Given the description of an element on the screen output the (x, y) to click on. 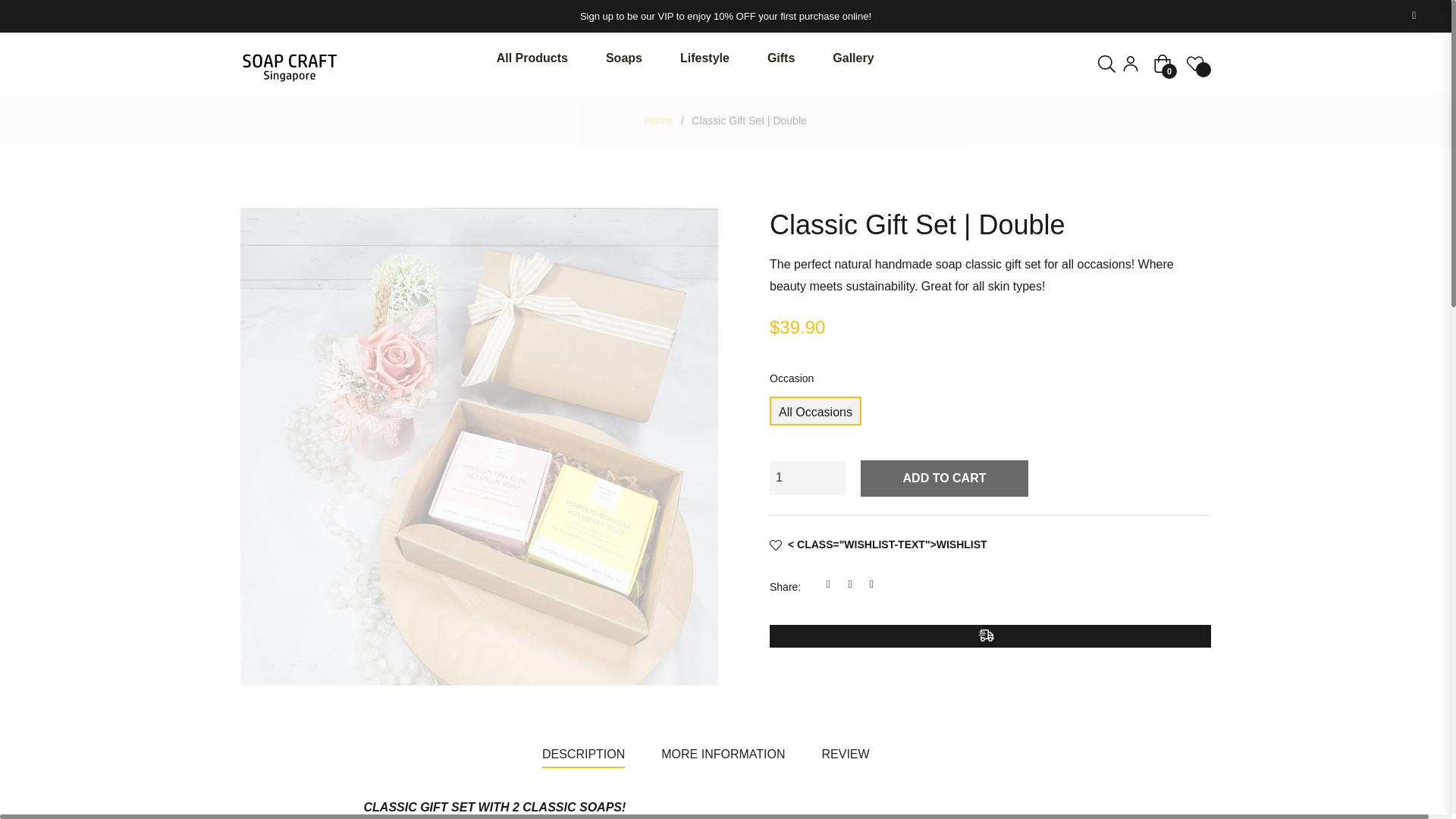
Home (658, 120)
1 (807, 478)
All Products (531, 58)
Lifestyle (704, 58)
Share on Facebook (833, 584)
Home (658, 120)
Gallery (852, 58)
Soaps (623, 58)
Wishlist (878, 544)
Shopping Cart (1162, 63)
Gifts (780, 58)
Tweet on Twitter (854, 584)
